Given the description of an element on the screen output the (x, y) to click on. 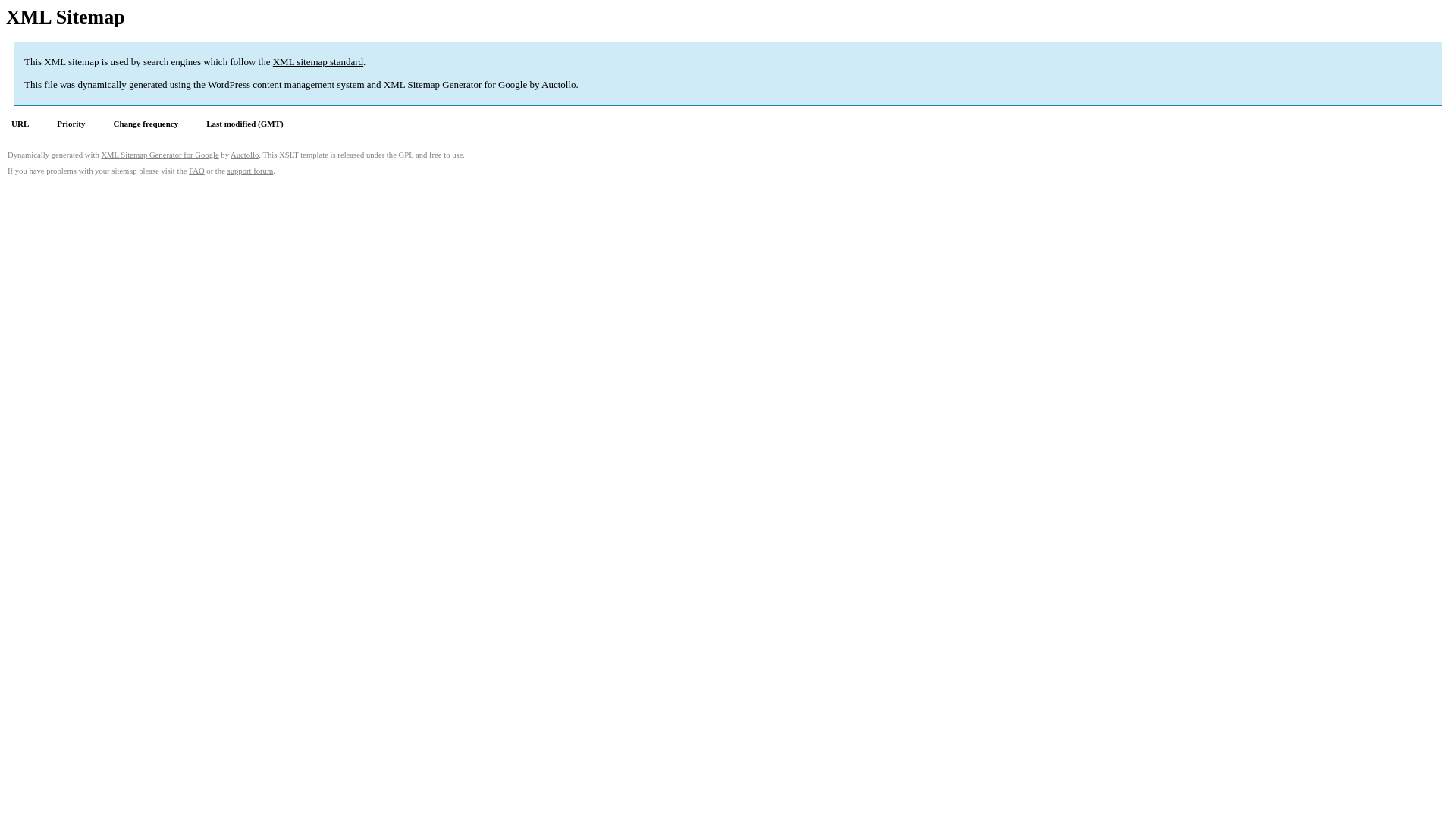
support forum Element type: text (250, 170)
Auctollo Element type: text (244, 154)
Auctollo Element type: text (558, 84)
XML sitemap standard Element type: text (318, 61)
FAQ Element type: text (196, 170)
WordPress Element type: text (228, 84)
XML Sitemap Generator for Google Element type: text (455, 84)
XML Sitemap Generator for Google Element type: text (159, 154)
